Given the description of an element on the screen output the (x, y) to click on. 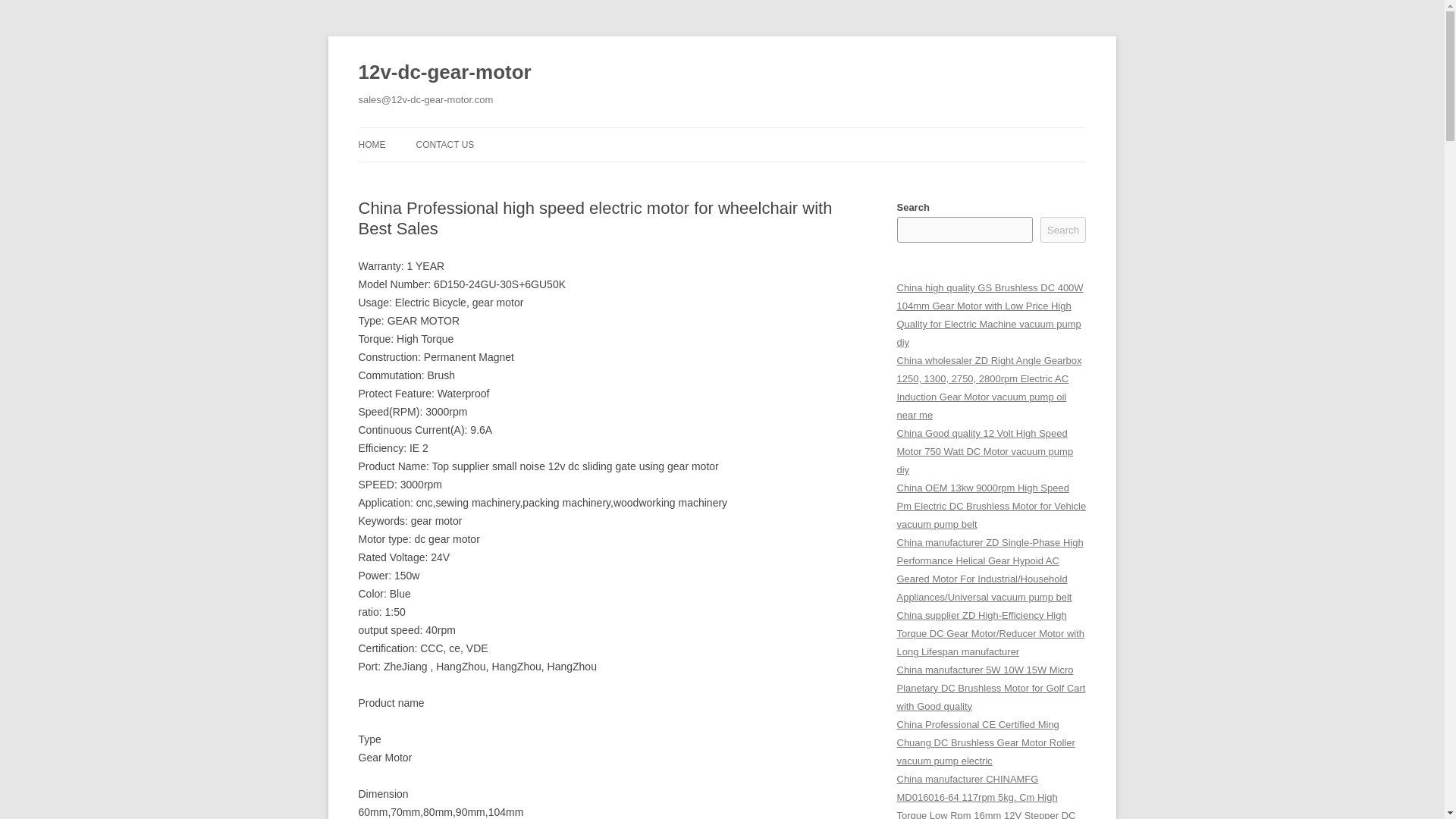
CONTACT US (444, 144)
12v-dc-gear-motor (444, 72)
Search (1063, 229)
